Given the description of an element on the screen output the (x, y) to click on. 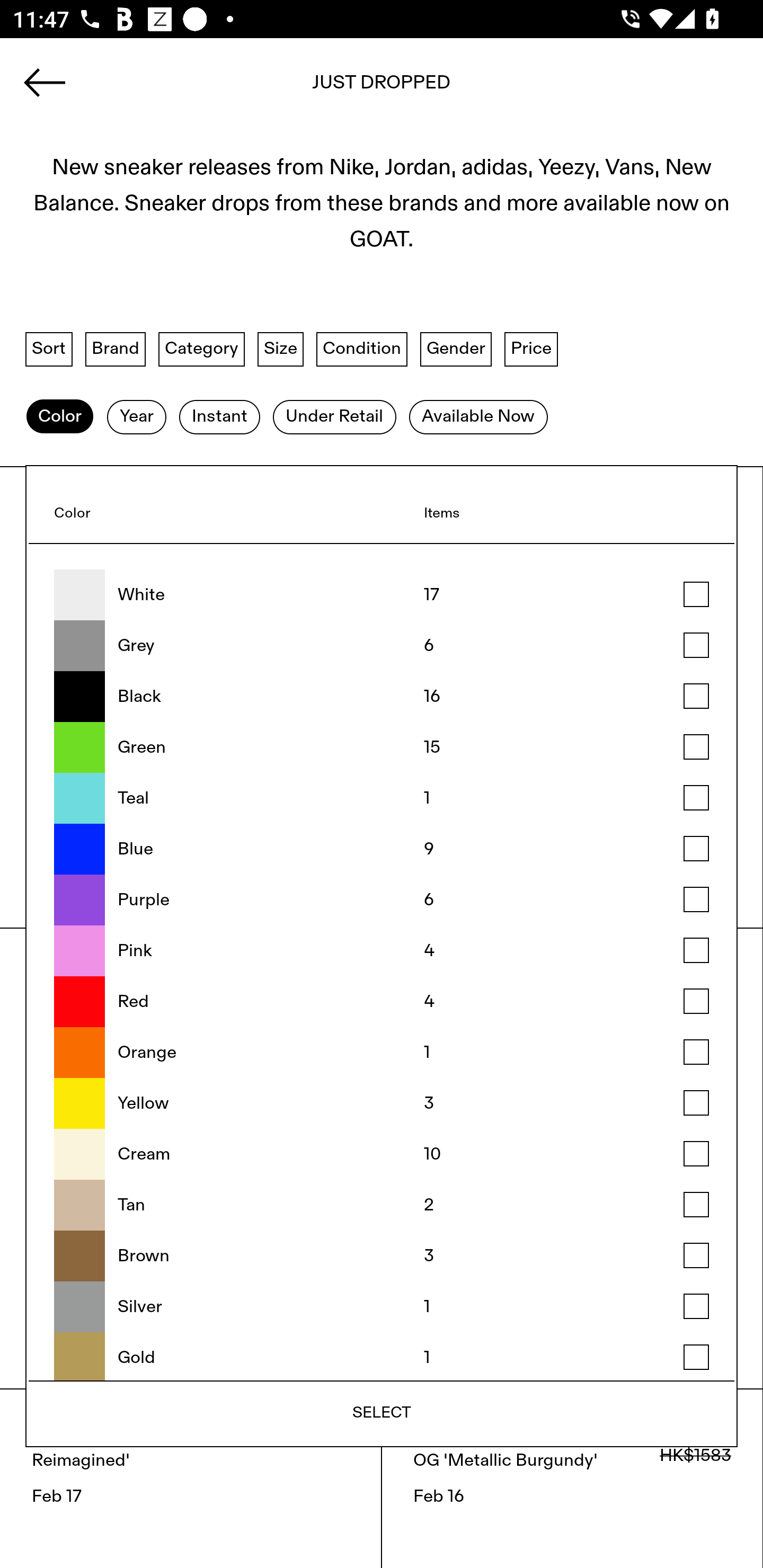
soccer shoes (381, 88)
Sort (48, 348)
Brand (115, 348)
Category (201, 348)
Size (280, 348)
Condition (361, 348)
Gender (455, 348)
Price (530, 348)
Color (59, 416)
Year (136, 416)
Instant (219, 416)
Under Retail (334, 416)
Available Now (477, 416)
White 17 (381, 594)
Grey 6 (381, 645)
Black 16 (381, 696)
Green 15 (381, 747)
Teal 1 (381, 798)
Blue 9 (381, 848)
Purple 6 (381, 899)
Pink 4 (381, 950)
Red 4 (381, 1001)
Orange 1 (381, 1052)
Yellow 3 (381, 1103)
Cream 10 (381, 1153)
Tan 2 (381, 1204)
Brown 3 (381, 1255)
Silver 1 (381, 1306)
Gold 1 (381, 1355)
